Given the description of an element on the screen output the (x, y) to click on. 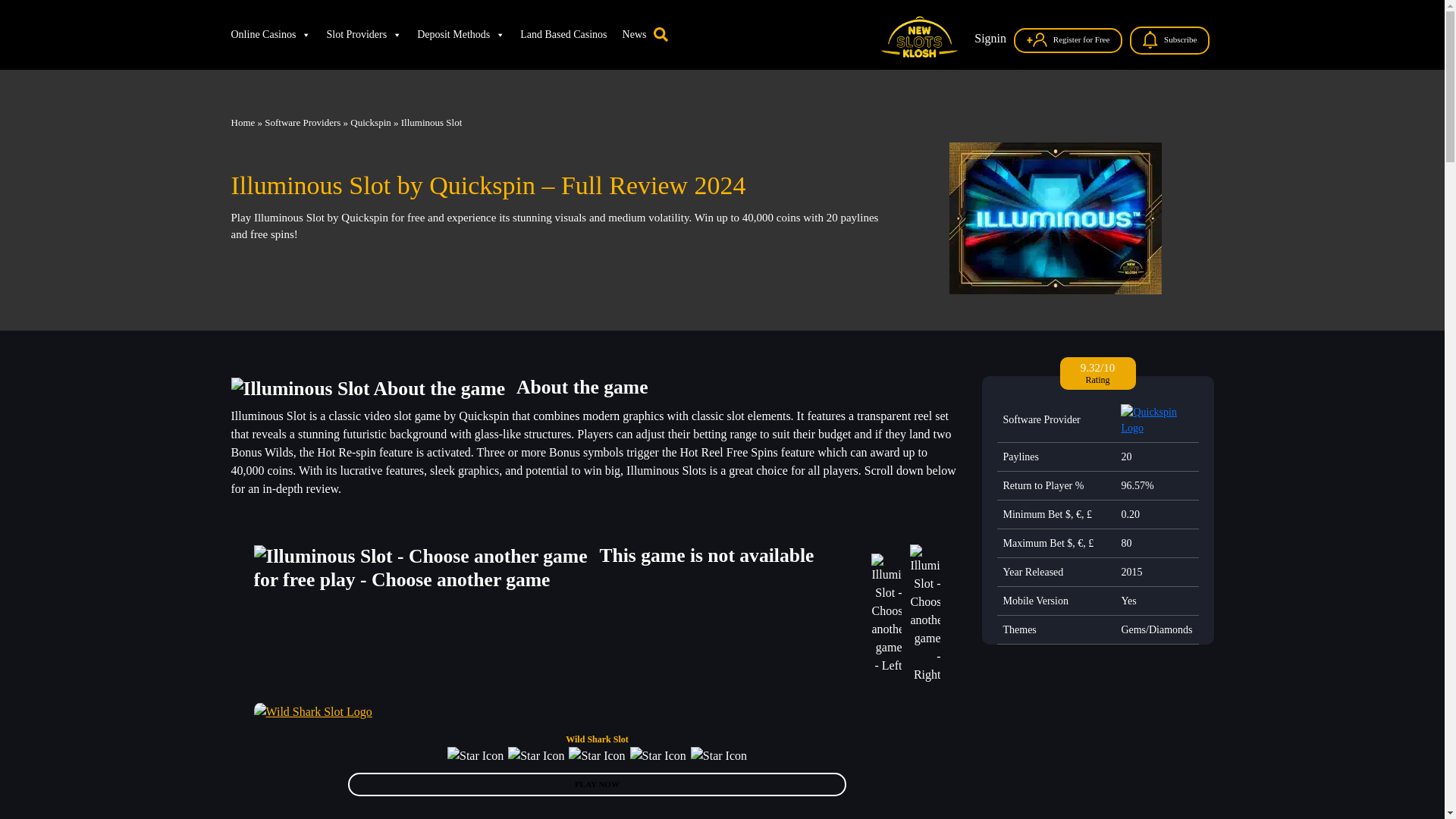
Star Icon (536, 754)
Register for Free (1067, 40)
New Slots Klosh - Search (660, 32)
Star Icon (596, 754)
Illuminous Slot Logo (1055, 216)
Star Icon (718, 754)
Wild Shark Slot (597, 739)
Illuminous Slot About the game (373, 386)
Star Icon (657, 754)
Illuminous Slot - Choose another game - Left (887, 612)
Star Icon (474, 754)
New Slots Klosh - Subscribe (1152, 39)
Slot Providers (363, 34)
Deposit Methods (460, 34)
Illuminous Slot - Choose another game - Right (925, 612)
